Given the description of an element on the screen output the (x, y) to click on. 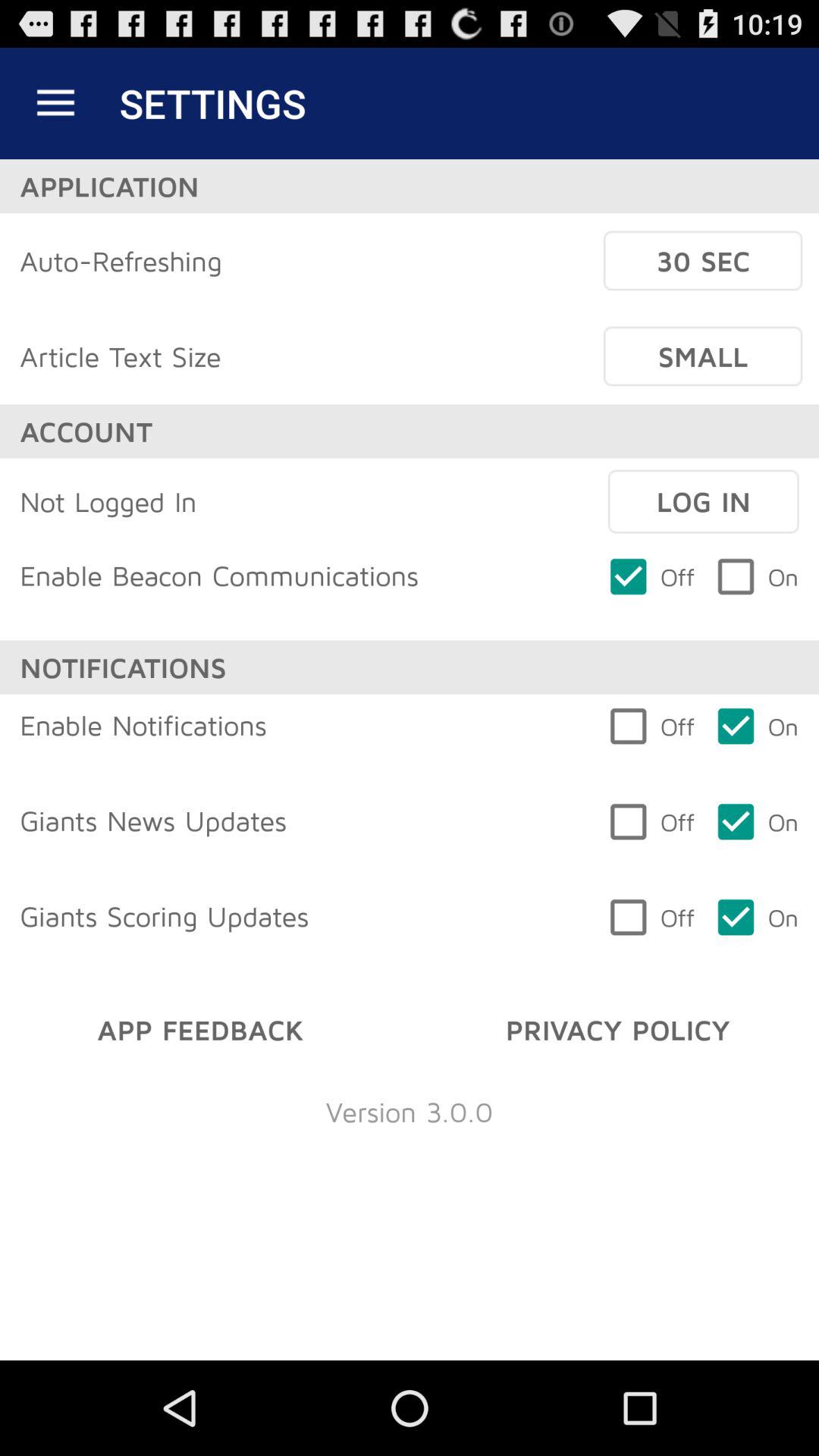
launch the version 3 0 item (409, 1111)
